Given the description of an element on the screen output the (x, y) to click on. 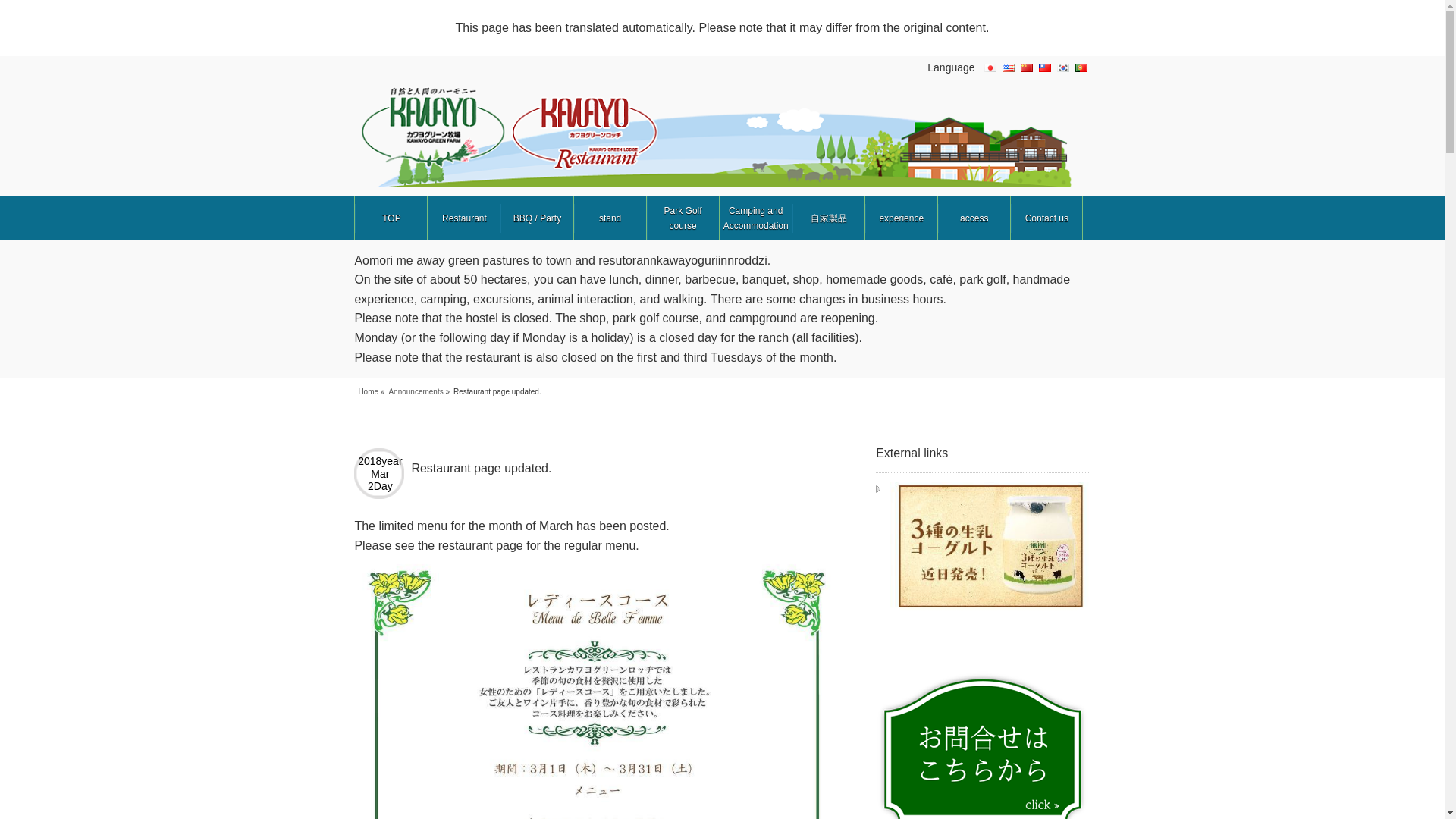
stand (609, 217)
Announcements (415, 391)
English (1008, 67)
TOP (390, 217)
Camping and Accommodation (755, 217)
Restaurant (463, 217)
Portugues (1081, 67)
access (973, 217)
experience (900, 217)
Park Golf course (682, 217)
Contact us (1045, 217)
Home (368, 391)
